Given the description of an element on the screen output the (x, y) to click on. 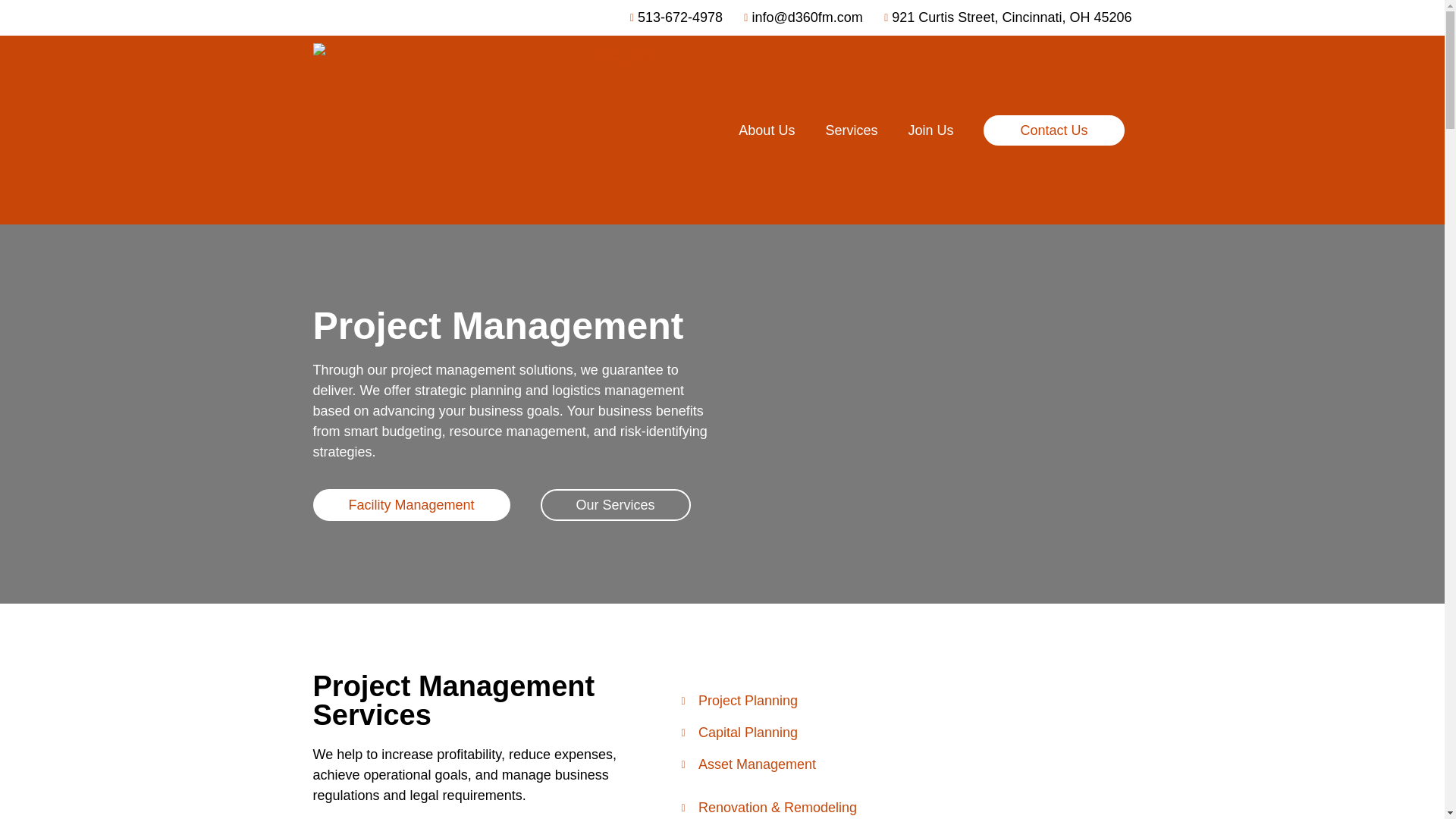
Our Services (615, 504)
Asset Management (748, 764)
Capital Planning (748, 732)
About Us (766, 129)
Services (850, 129)
513-672-4978 (671, 17)
Project Planning (748, 701)
Join Us (930, 129)
921 Curtis Street, Cincinnati, OH 45206 (1003, 17)
Facility Management (411, 504)
Contact Us (1054, 130)
